Given the description of an element on the screen output the (x, y) to click on. 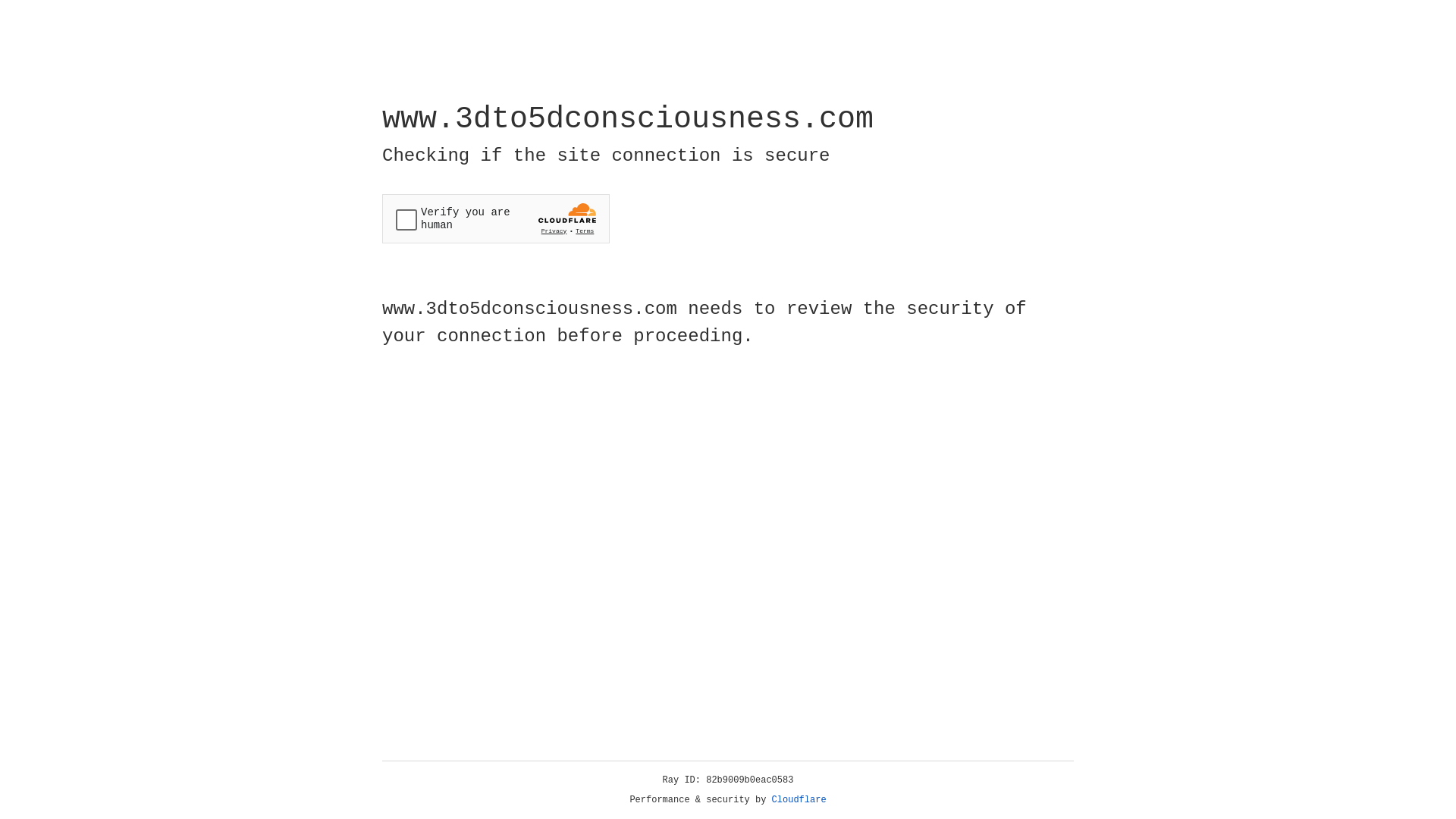
Cloudflare Element type: text (798, 799)
Widget containing a Cloudflare security challenge Element type: hover (495, 218)
